Given the description of an element on the screen output the (x, y) to click on. 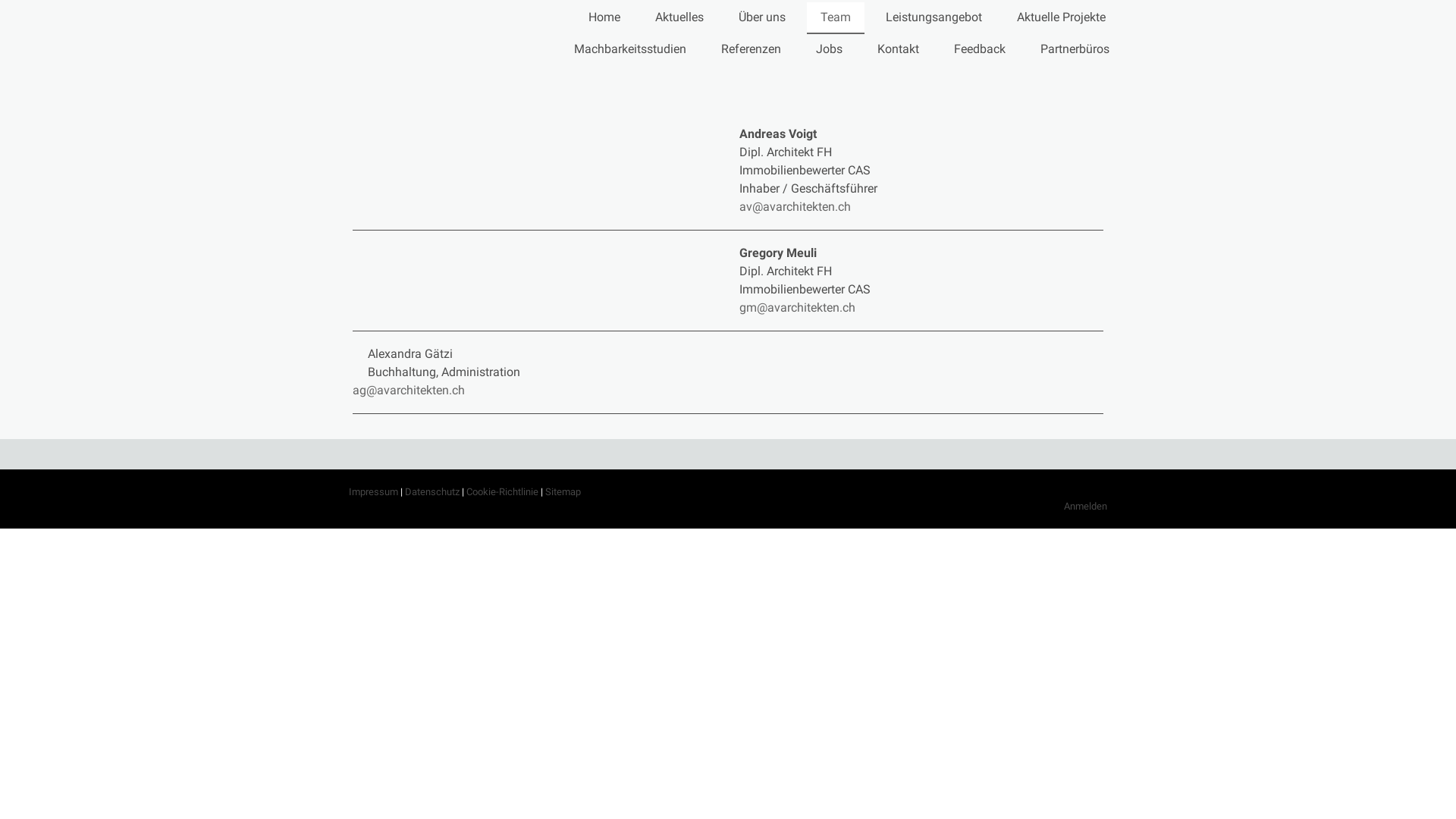
Aktuelles Element type: text (679, 18)
Kontakt Element type: text (897, 49)
Cookie-Richtlinie Element type: text (502, 491)
Sitemap Element type: text (562, 491)
Machbarkeitsstudien Element type: text (629, 49)
gm@avarchitekten.ch  Element type: text (798, 307)
Impressum Element type: text (373, 491)
Team Element type: text (835, 18)
Datenschutz Element type: text (431, 491)
Leistungsangebot Element type: text (933, 18)
av@avarchitekten.ch   Element type: text (797, 206)
Referenzen Element type: text (750, 49)
Anmelden Element type: text (1085, 505)
Home Element type: text (603, 18)
Jobs Element type: text (829, 49)
Aktuelle Projekte Element type: text (1061, 18)
Feedback Element type: text (979, 49)
ag@avarchitekten.ch Element type: text (408, 389)
